Given the description of an element on the screen output the (x, y) to click on. 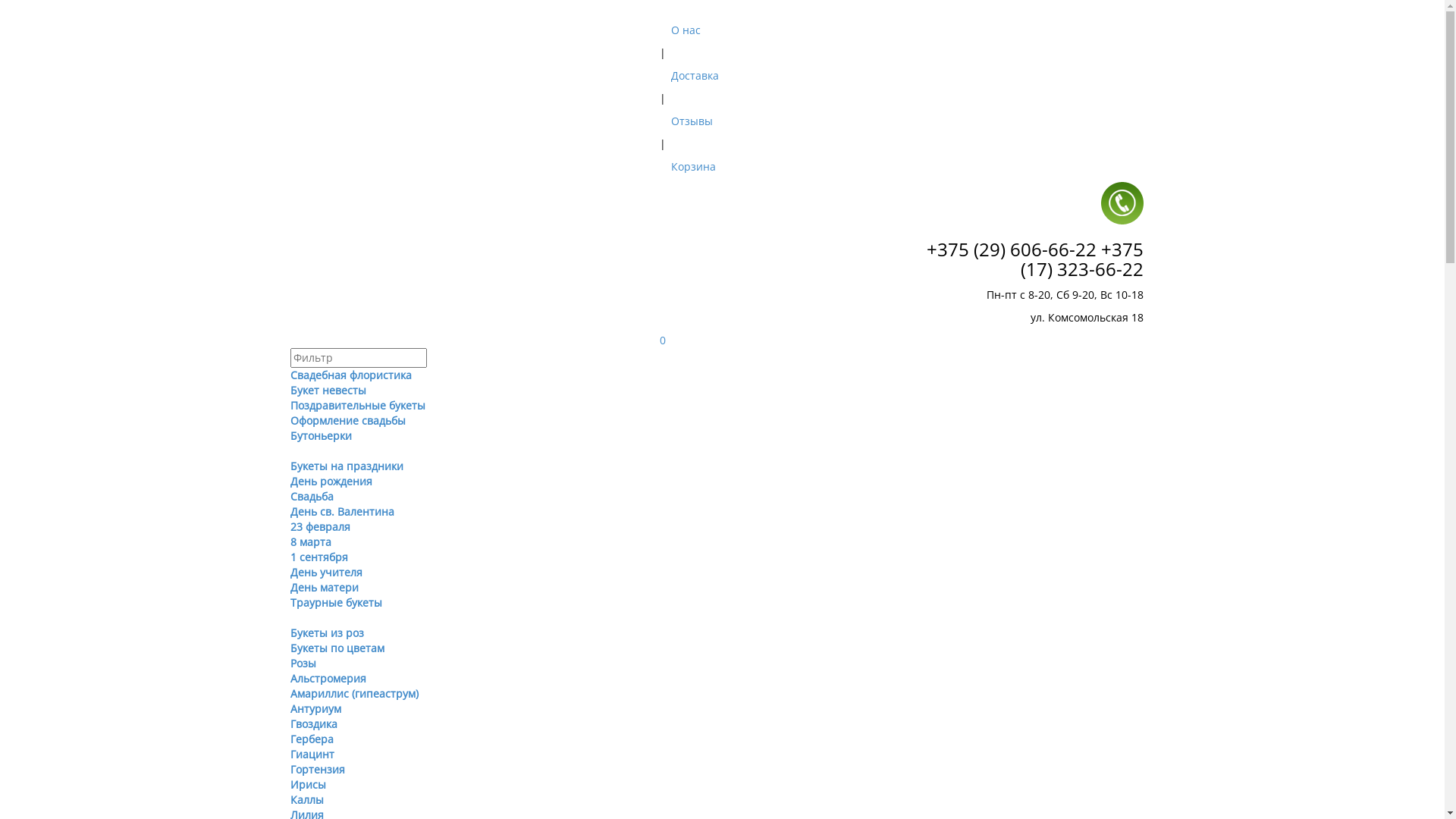
0 Element type: text (662, 339)
